Given the description of an element on the screen output the (x, y) to click on. 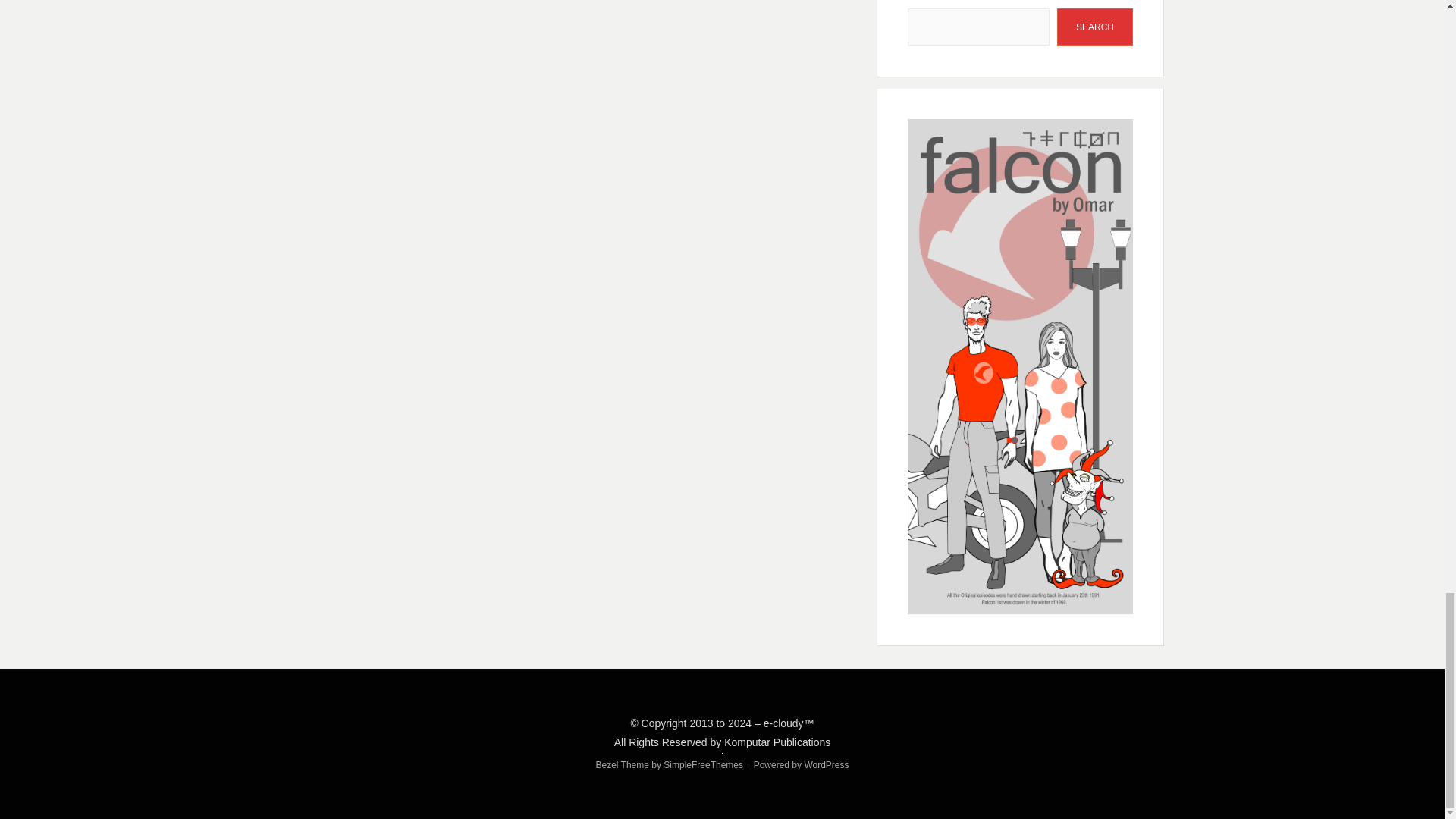
WordPress (825, 765)
SimpleFreeThemes (702, 765)
